Given the description of an element on the screen output the (x, y) to click on. 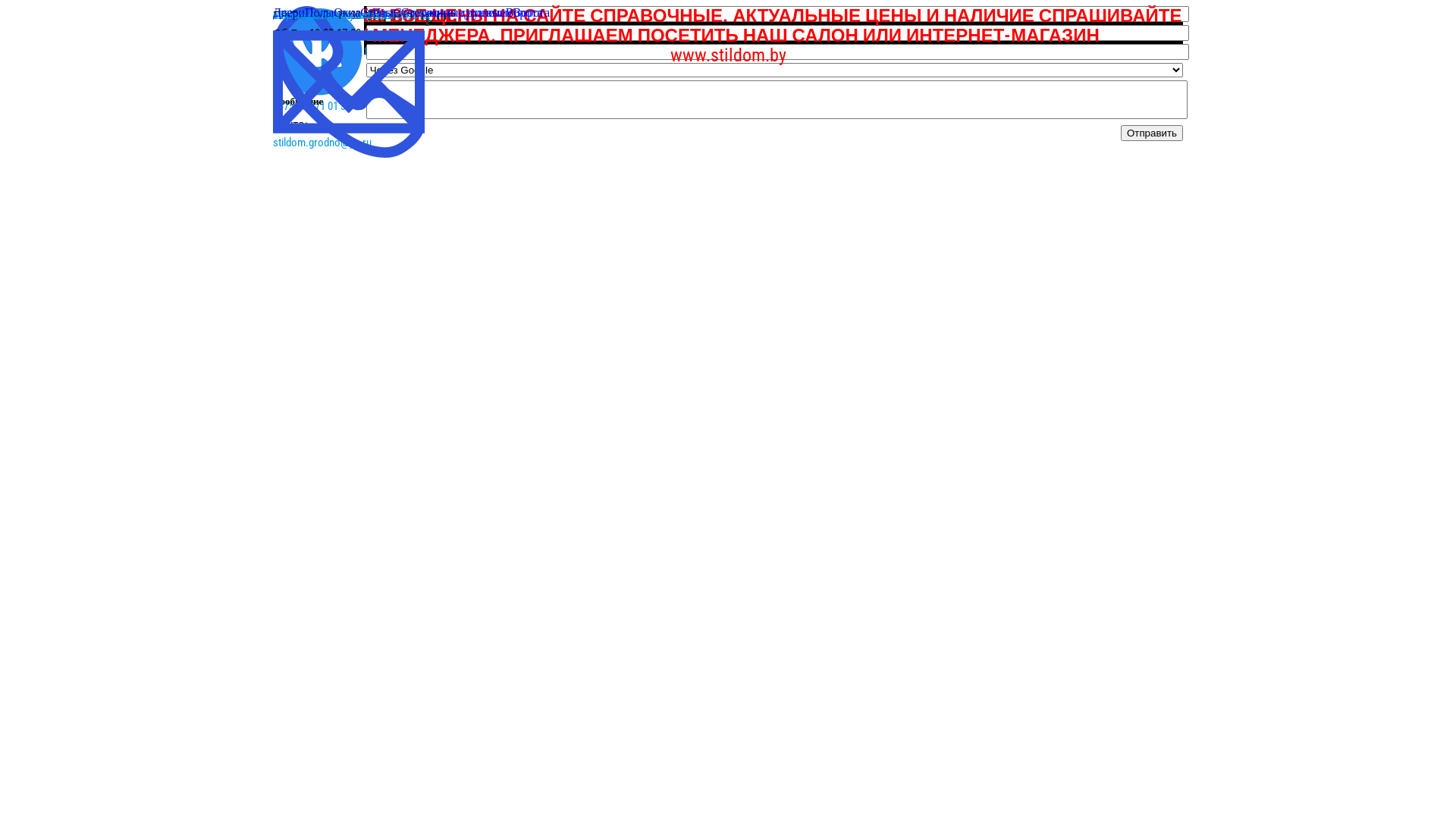
www.stildom.by Element type: text (728, 54)
+375 29 332 01 34 Element type: text (312, 87)
+375 29 332 01 34 Element type: text (312, 14)
+375 29 771 01 34 Element type: text (312, 105)
stildom.grodno@yandex.ru Element type: text (332, 14)
stildom.grodno@ya.ru Element type: text (322, 142)
